Given the description of an element on the screen output the (x, y) to click on. 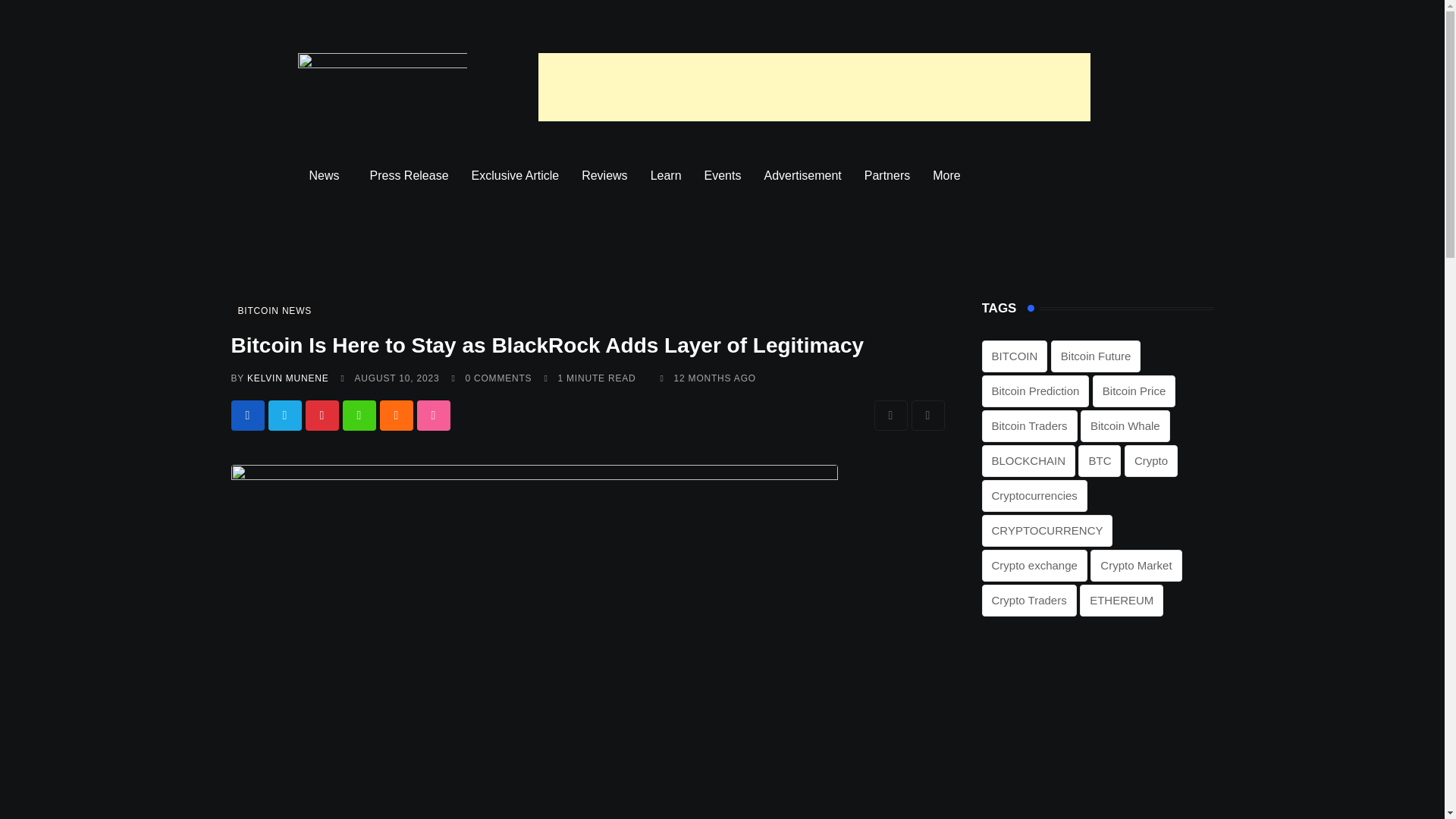
KELVIN MUNENE (288, 378)
Exclusive Article (515, 175)
Advertisement (801, 175)
Learn (666, 175)
Press Release (409, 175)
Posts by Kelvin Munene (288, 378)
Partners (887, 175)
Reviews (604, 175)
News (327, 175)
Events (722, 175)
More (949, 175)
BITCOIN NEWS (274, 309)
